Given the description of an element on the screen output the (x, y) to click on. 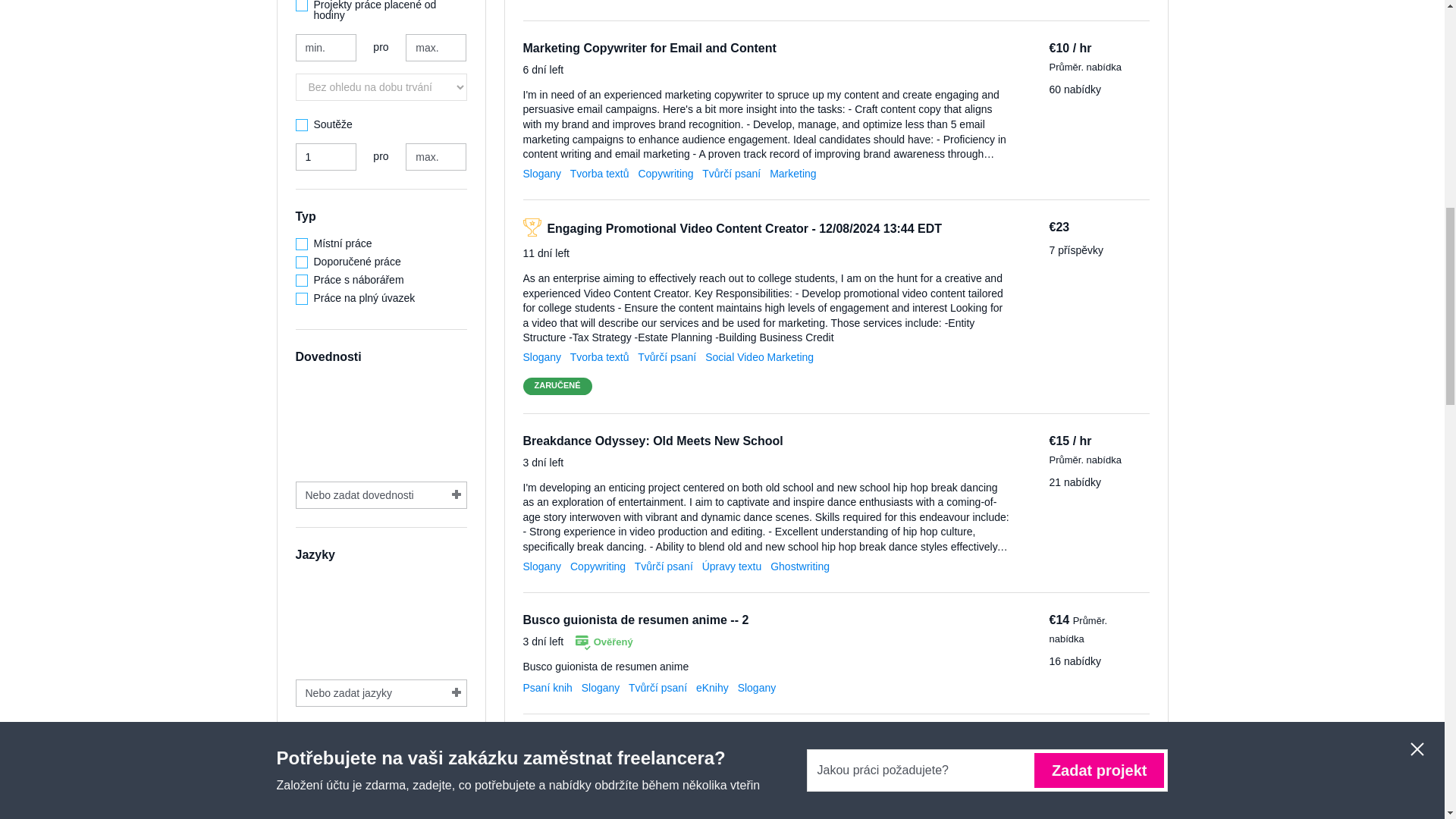
Slogany (542, 357)
Marketing (792, 173)
1 (325, 156)
Marketing Copywriter for Email and Content (649, 47)
Trophy icon (531, 227)
Copywriting (665, 173)
Slogany (542, 173)
